Given the description of an element on the screen output the (x, y) to click on. 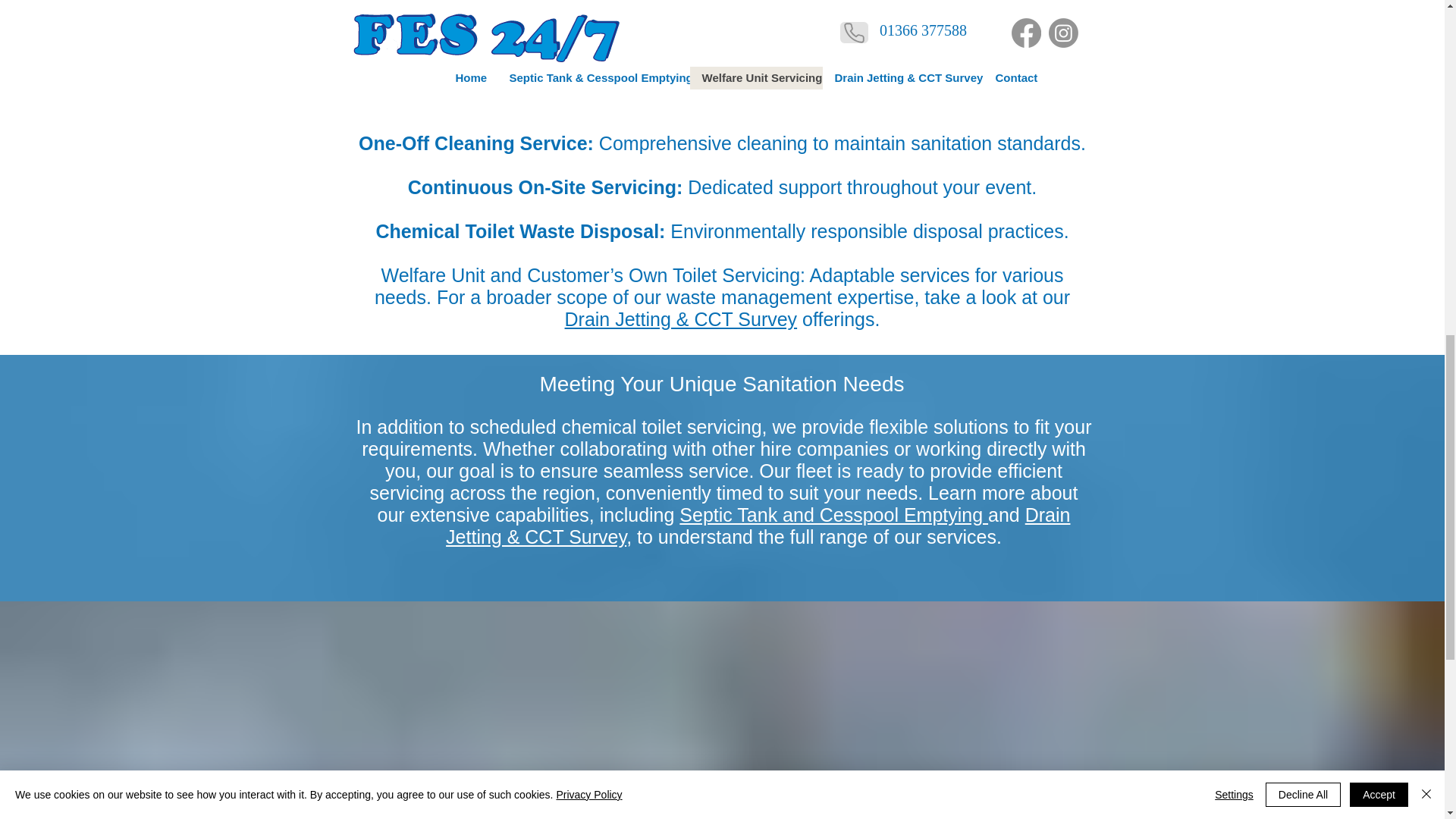
Septic Tank and Cesspool Emptying (833, 514)
